Given the description of an element on the screen output the (x, y) to click on. 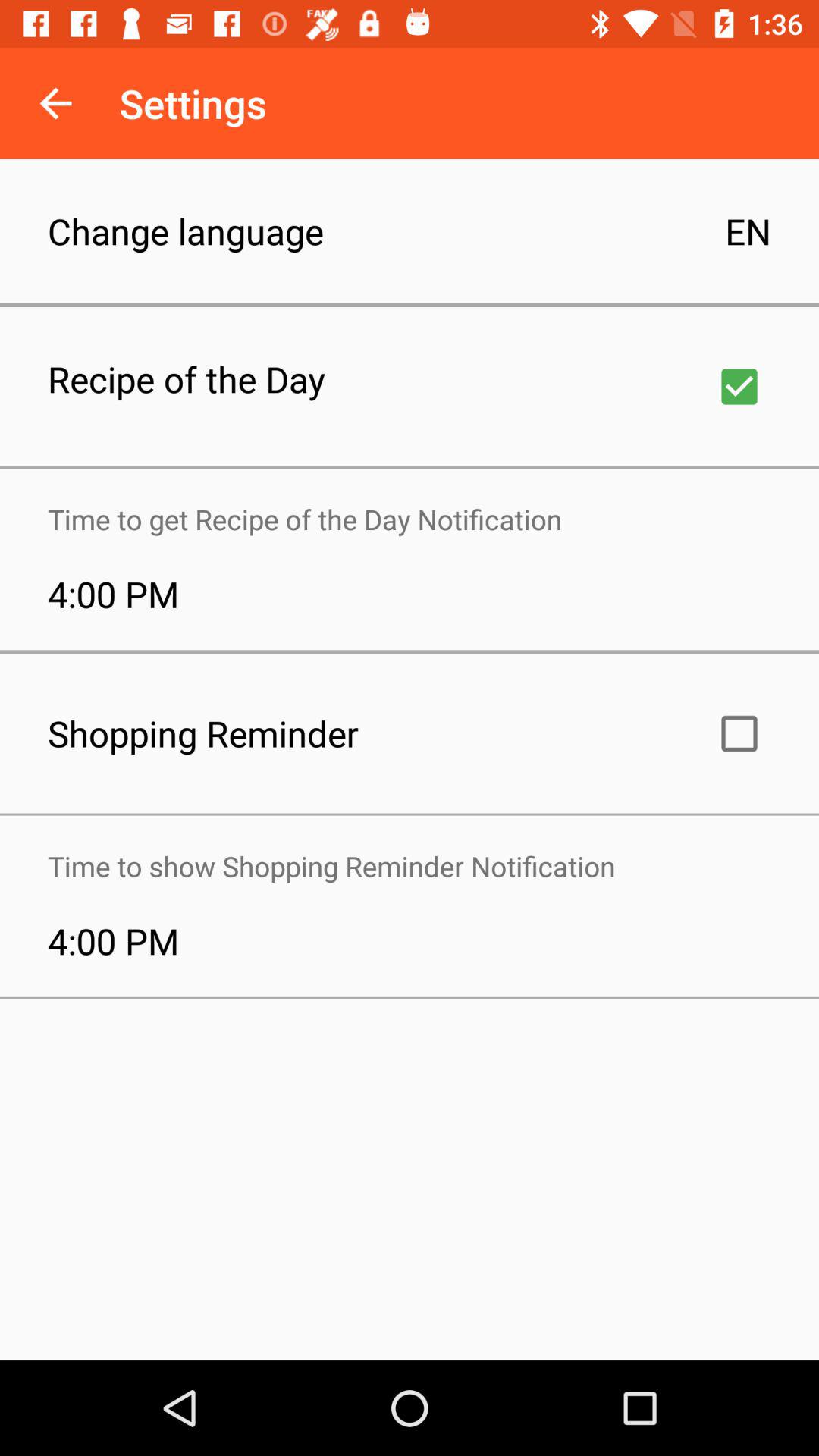
control whether i receive recipe of the day (739, 386)
